Given the description of an element on the screen output the (x, y) to click on. 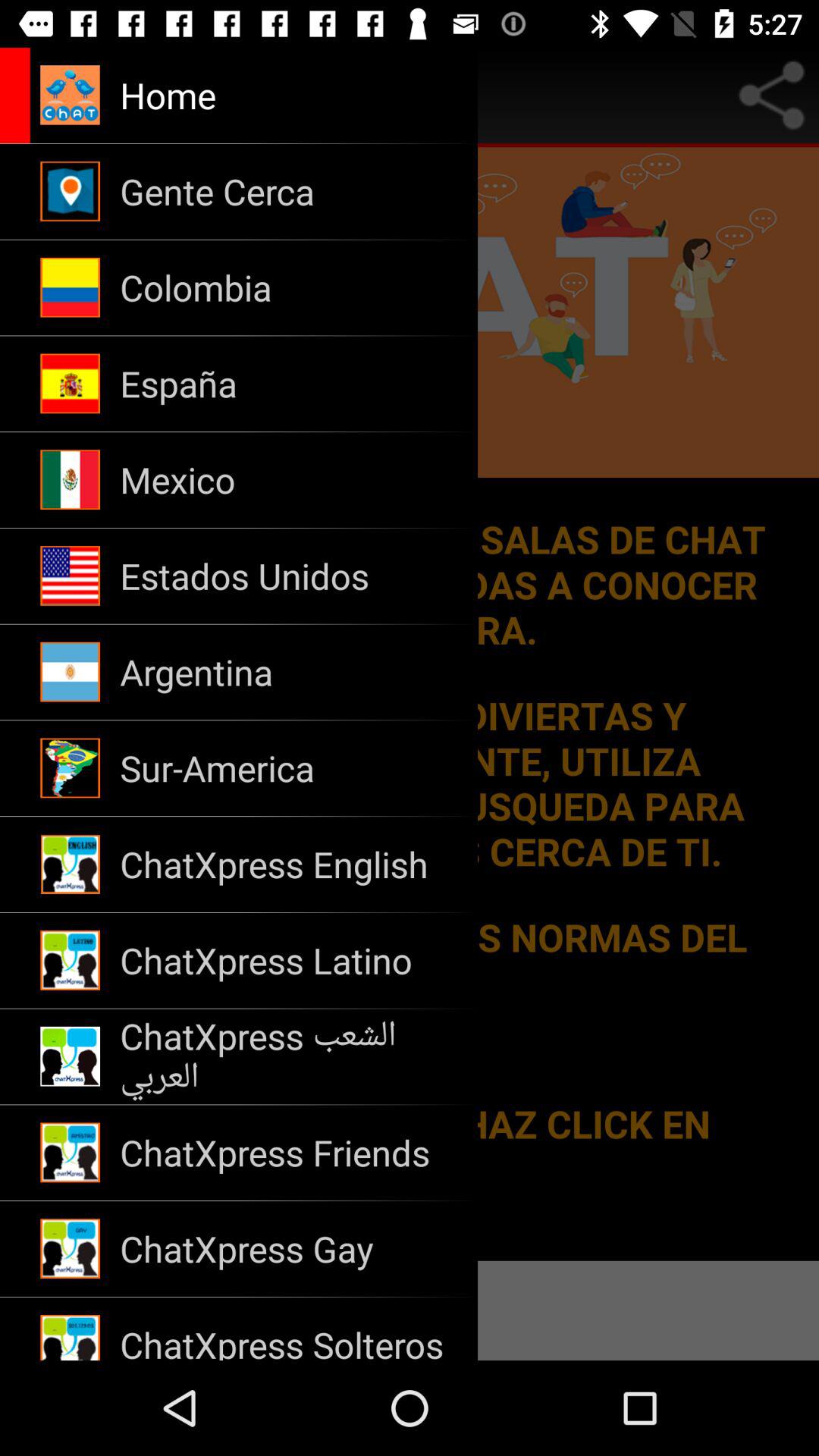
go to home page (19, 95)
